Given the description of an element on the screen output the (x, y) to click on. 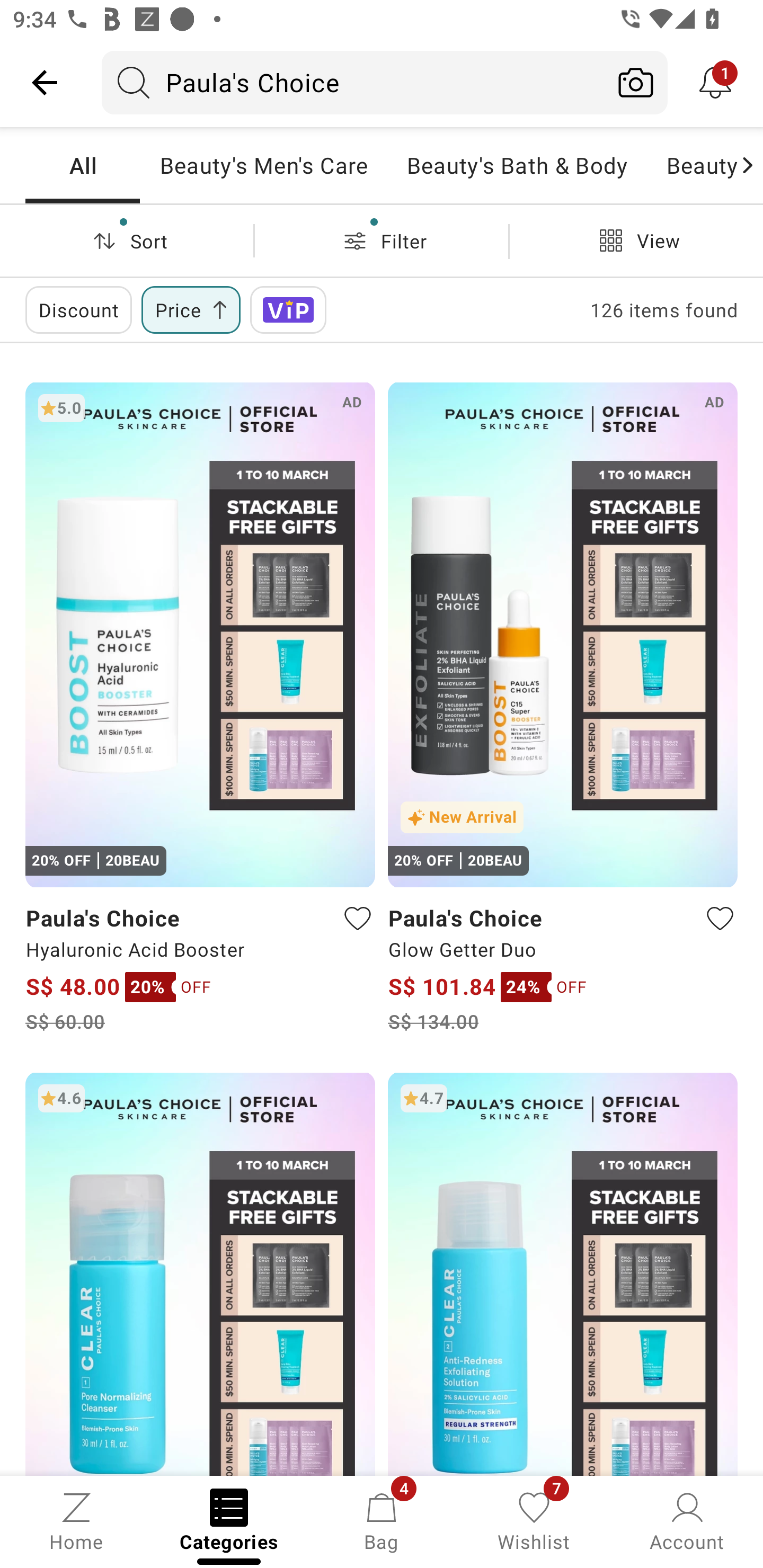
Navigate up (44, 82)
Paula's Choice (352, 82)
Beauty's Men's Care (262, 165)
Beauty's Bath & Body (516, 165)
Beauty's Hair Care (691, 165)
Sort (126, 240)
Filter (381, 240)
View (636, 240)
Discount (78, 309)
Price (190, 309)
4.6 (200, 1272)
4.7 (562, 1272)
Home (76, 1519)
Bag, 4 new notifications Bag (381, 1519)
Wishlist, 7 new notifications Wishlist (533, 1519)
Account (686, 1519)
